Given the description of an element on the screen output the (x, y) to click on. 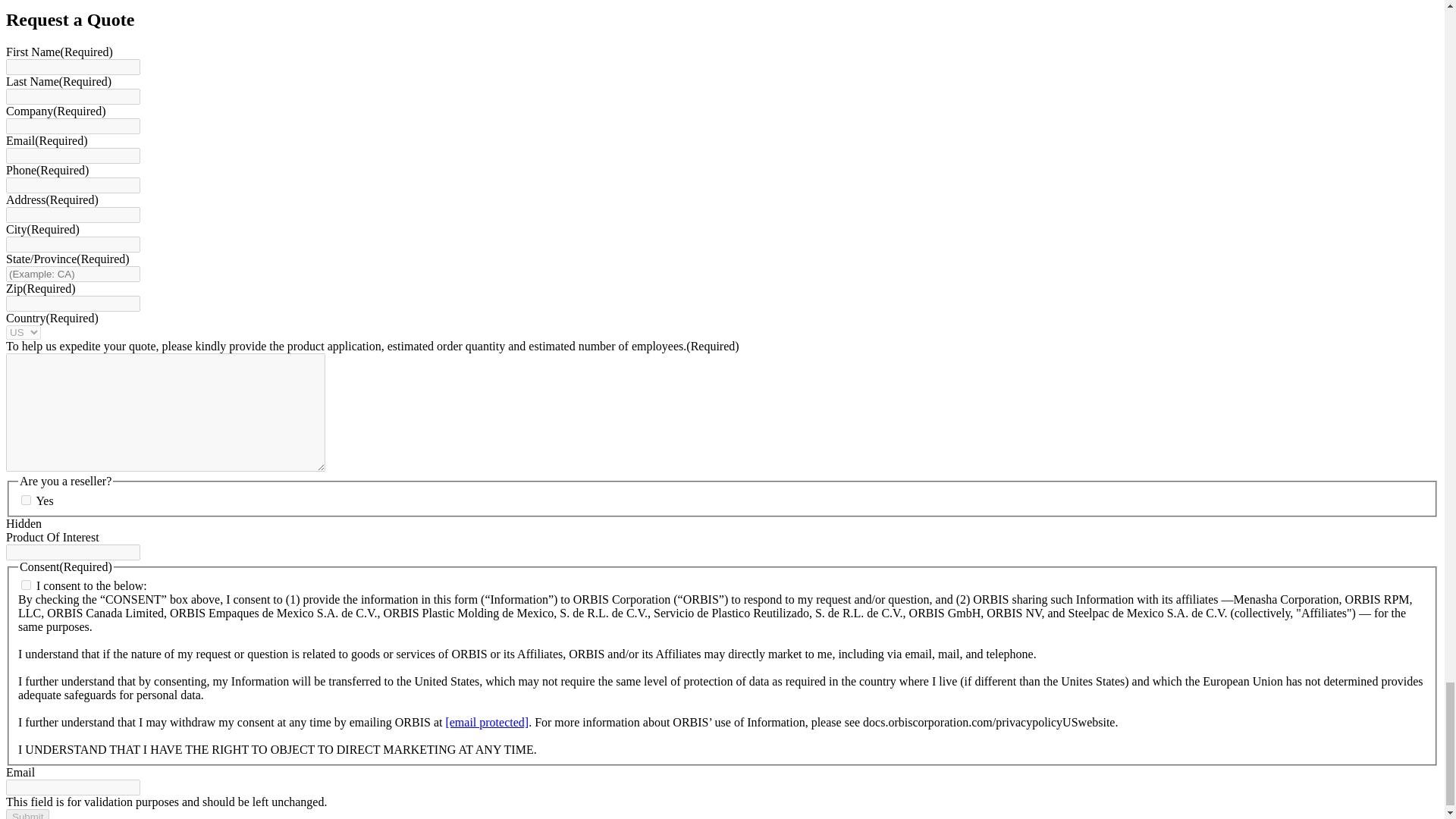
1 (25, 584)
Yes (25, 500)
